Given the description of an element on the screen output the (x, y) to click on. 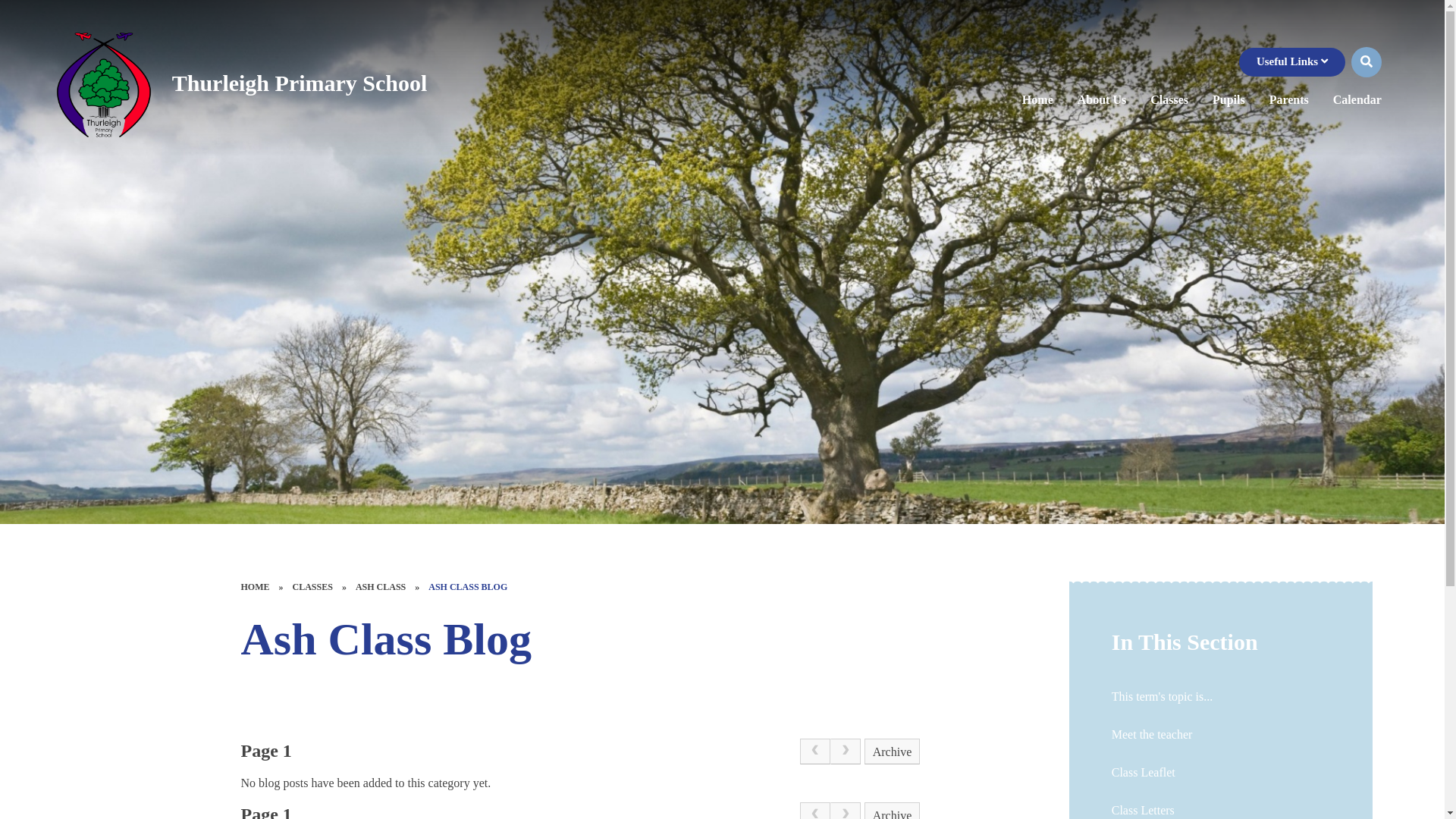
About Us (1101, 99)
Useful Links (1291, 61)
Home (1037, 99)
